Given the description of an element on the screen output the (x, y) to click on. 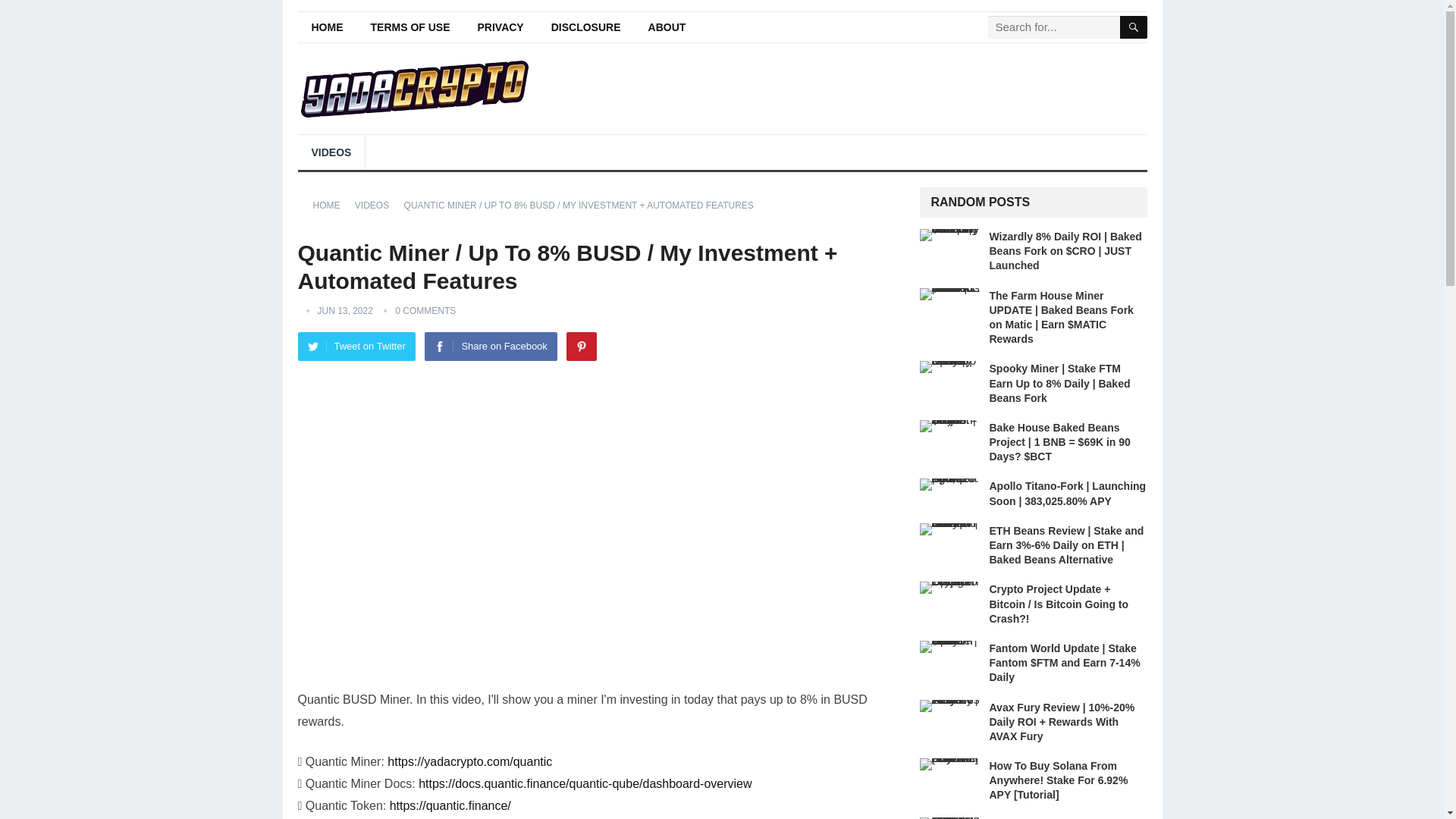
PRIVACY (500, 27)
HOME (326, 27)
0 COMMENTS (424, 310)
ABOUT (667, 27)
Pinterest (581, 346)
VIDEOS (331, 152)
View all posts in Videos (376, 204)
TERMS OF USE (409, 27)
DISCLOSURE (585, 27)
